Given the description of an element on the screen output the (x, y) to click on. 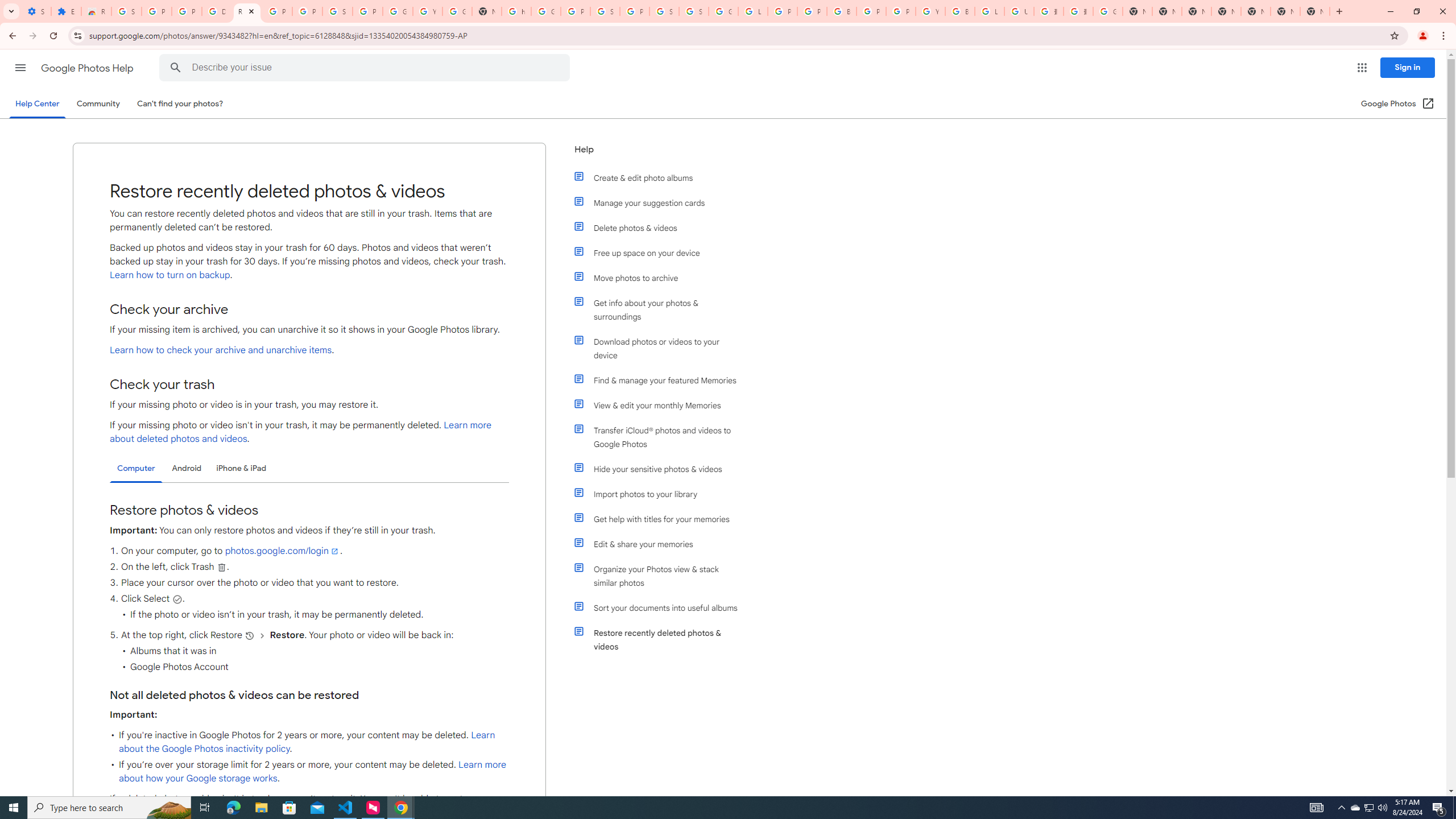
Privacy Help Center - Policies Help (811, 11)
Move photos to archive (661, 277)
Learn how to turn on backup (169, 274)
https://scholar.google.com/ (515, 11)
Select (176, 598)
Learn how to check your archive and unarchive items (220, 350)
Get info about your photos & surroundings (661, 309)
and then (262, 635)
Manage your suggestion cards (661, 202)
